Given the description of an element on the screen output the (x, y) to click on. 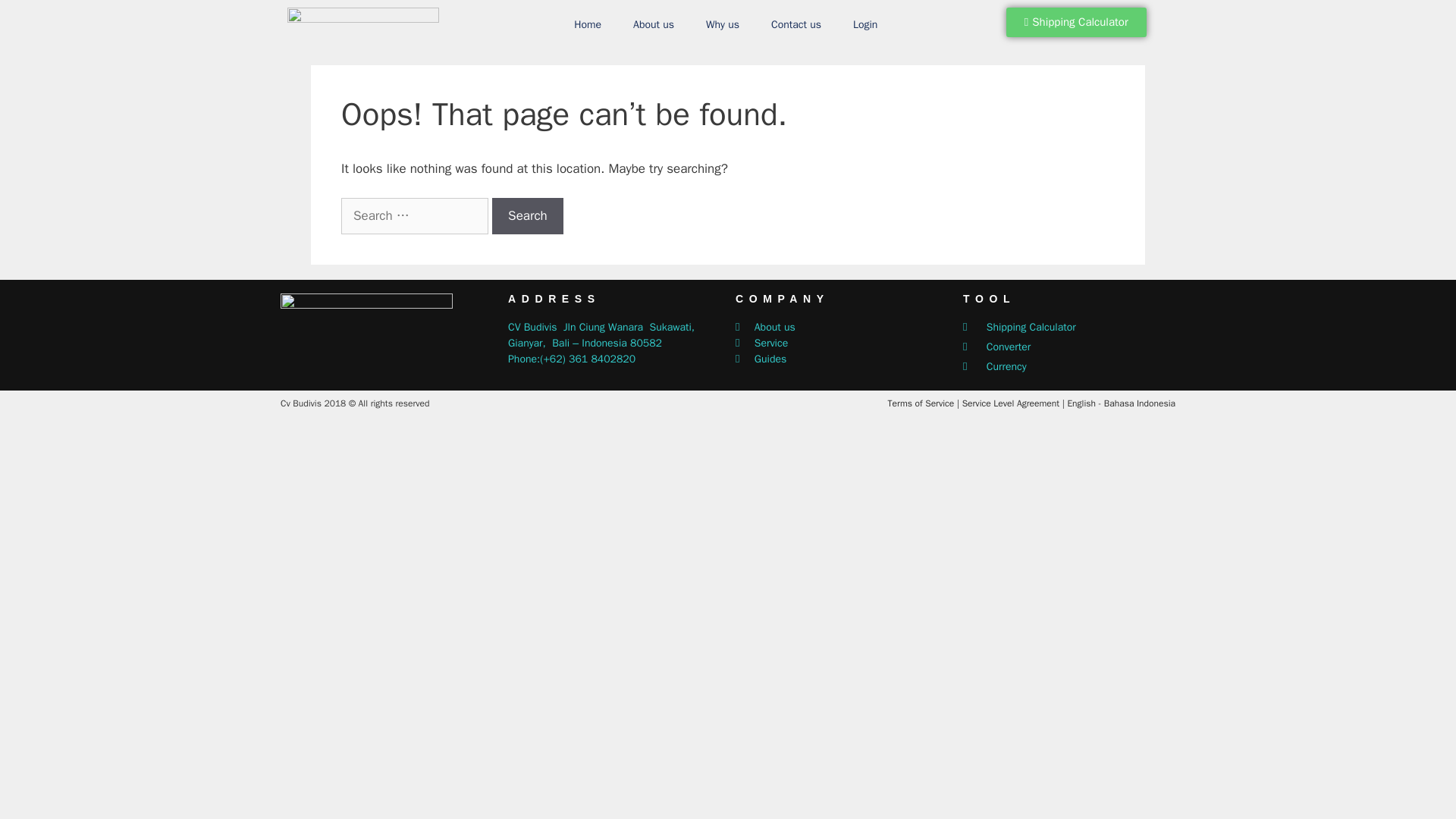
Login (865, 24)
Home (587, 24)
Search for: (413, 216)
Search (527, 216)
About us (653, 24)
Shipping Calculator (1076, 21)
Shipping Calculator (1068, 326)
Contact us (796, 24)
Search (527, 216)
About us (841, 326)
